Given the description of an element on the screen output the (x, y) to click on. 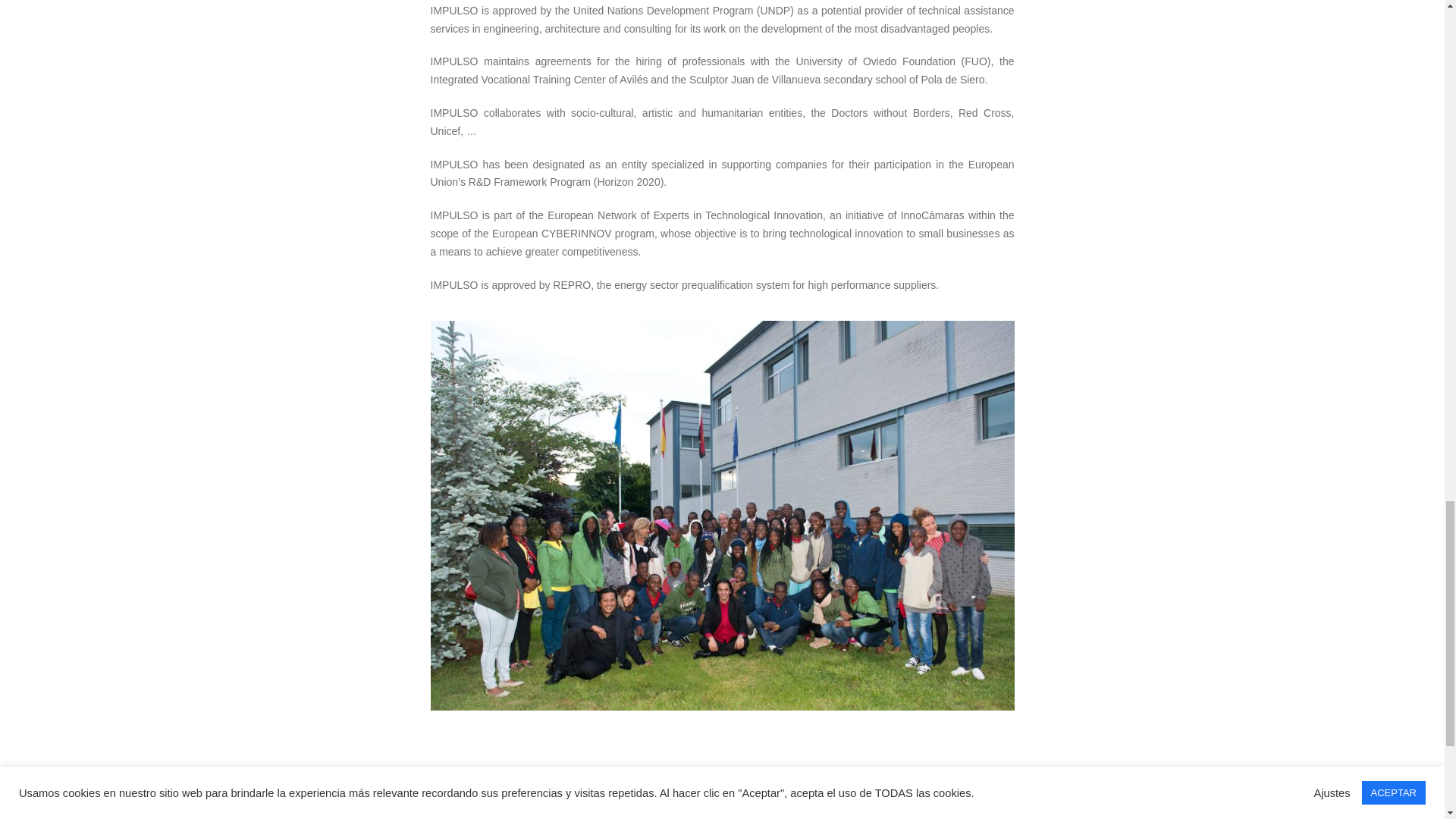
Privacy policy (603, 788)
Cookies policy (780, 788)
Legal notice (421, 788)
